Given the description of an element on the screen output the (x, y) to click on. 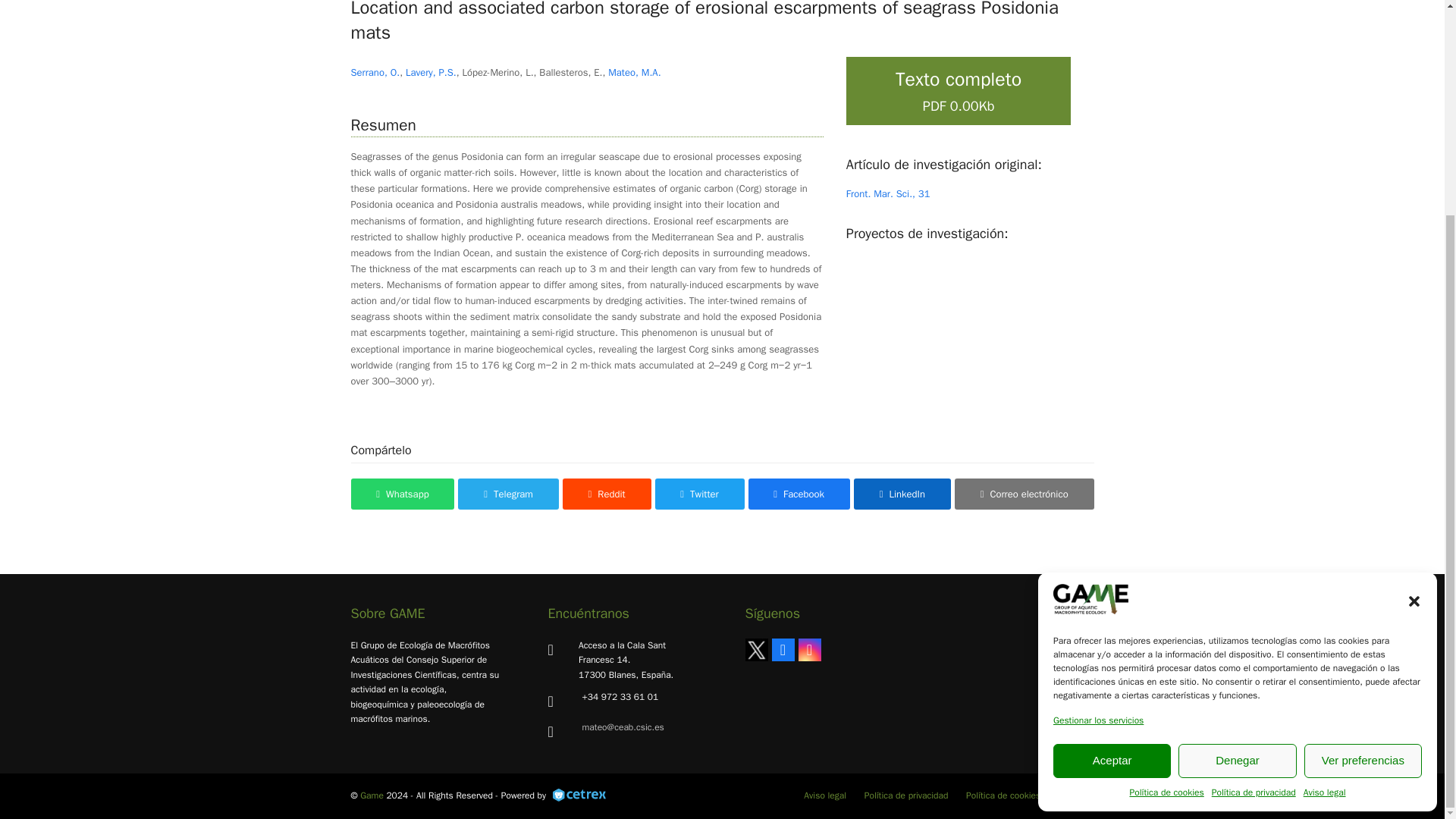
Denegar (1236, 478)
Aceptar (1111, 478)
Twitter (755, 649)
Aviso legal (1324, 510)
Ver preferencias (1363, 478)
Gestionar los servicios (1097, 438)
Instagram (809, 649)
Facebook (782, 649)
